Given the description of an element on the screen output the (x, y) to click on. 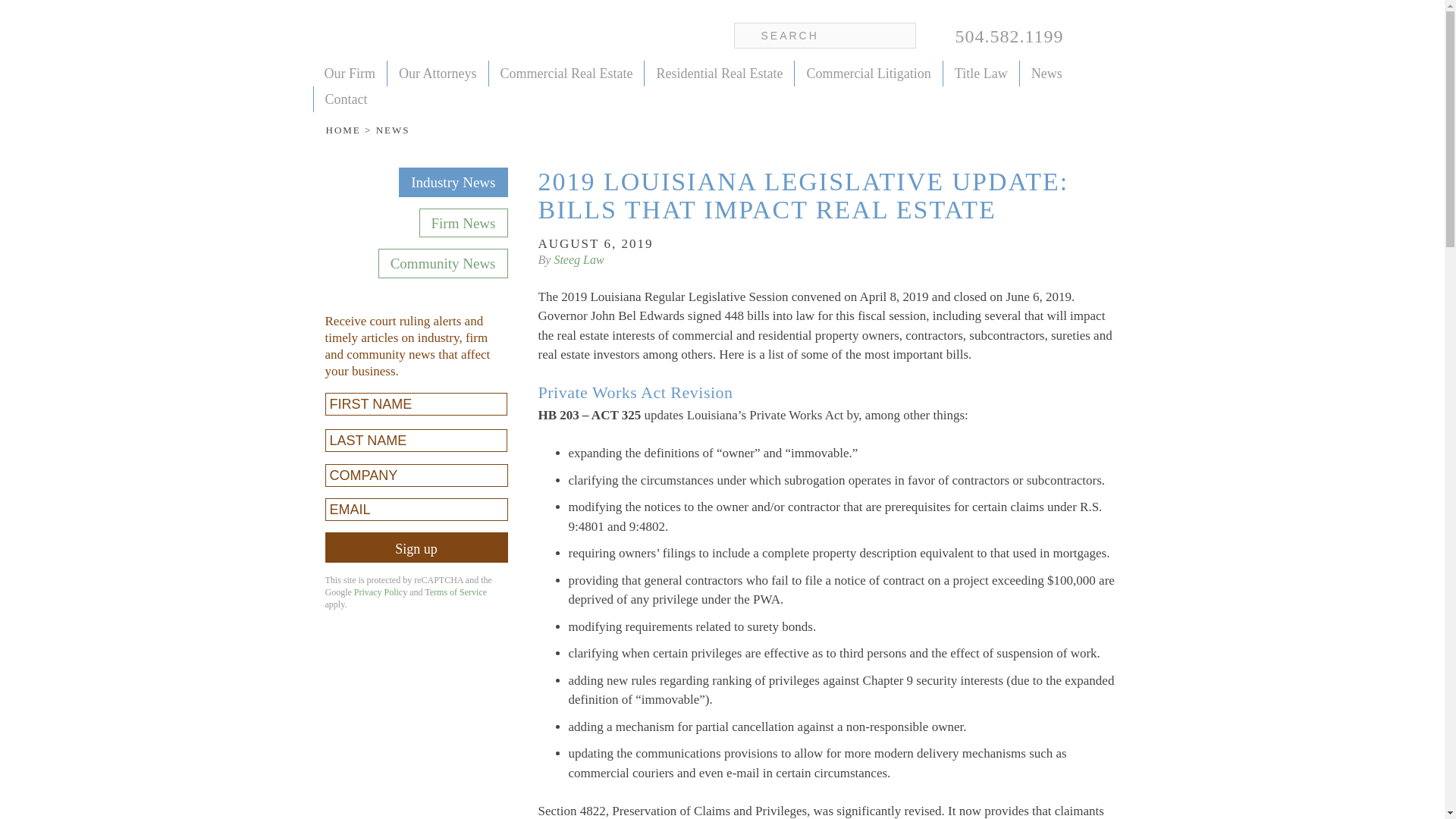
Our Attorneys (437, 73)
Sign up (415, 547)
504.582.1199 (1001, 37)
Search (23, 10)
Steeg Law (434, 36)
Title Law (980, 73)
Commercial Real Estate (566, 73)
Commercial Litigation (867, 73)
Our Firm (350, 73)
Our Attorneys (437, 73)
